Given the description of an element on the screen output the (x, y) to click on. 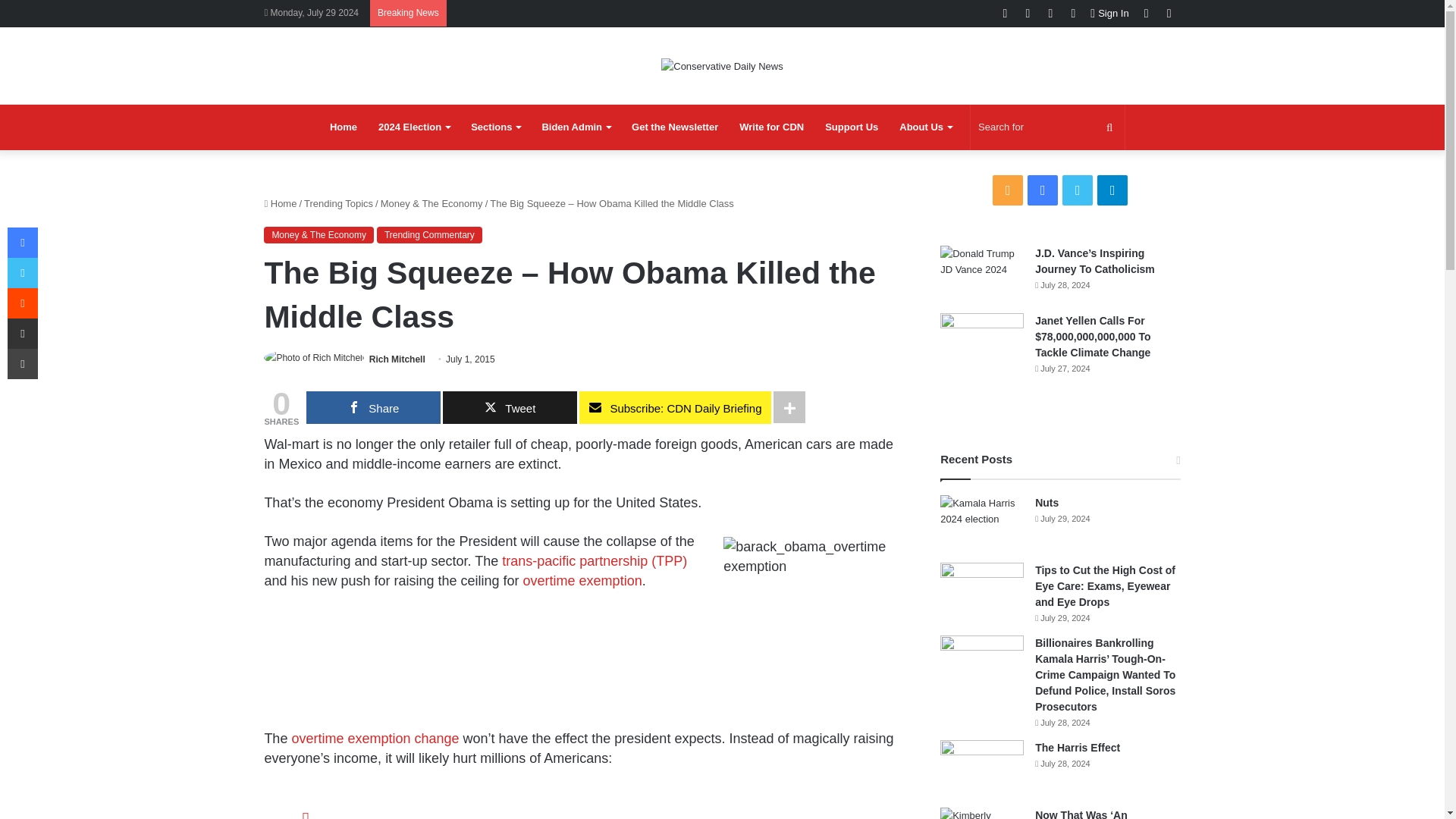
Support CDN With a Small Donation (850, 126)
Conservative Daily News (722, 65)
Home (343, 126)
Search for (1047, 126)
Sections (495, 126)
Become a CDN Contributor (771, 126)
Biden Admin (576, 126)
Get the Newsletter (675, 126)
Rich Mitchell (397, 358)
2024 Election (414, 126)
